Given the description of an element on the screen output the (x, y) to click on. 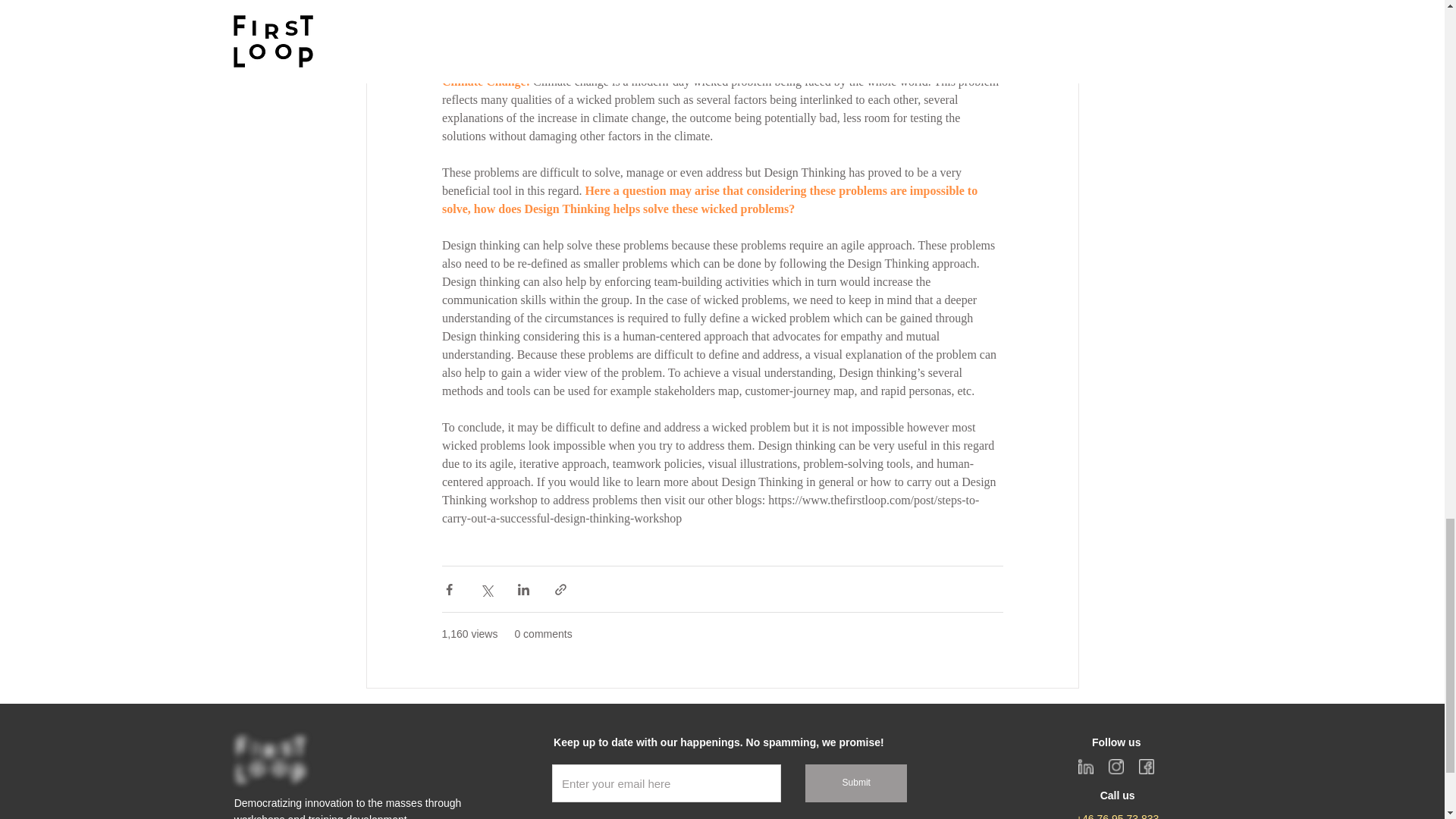
Submit (856, 783)
